Given the description of an element on the screen output the (x, y) to click on. 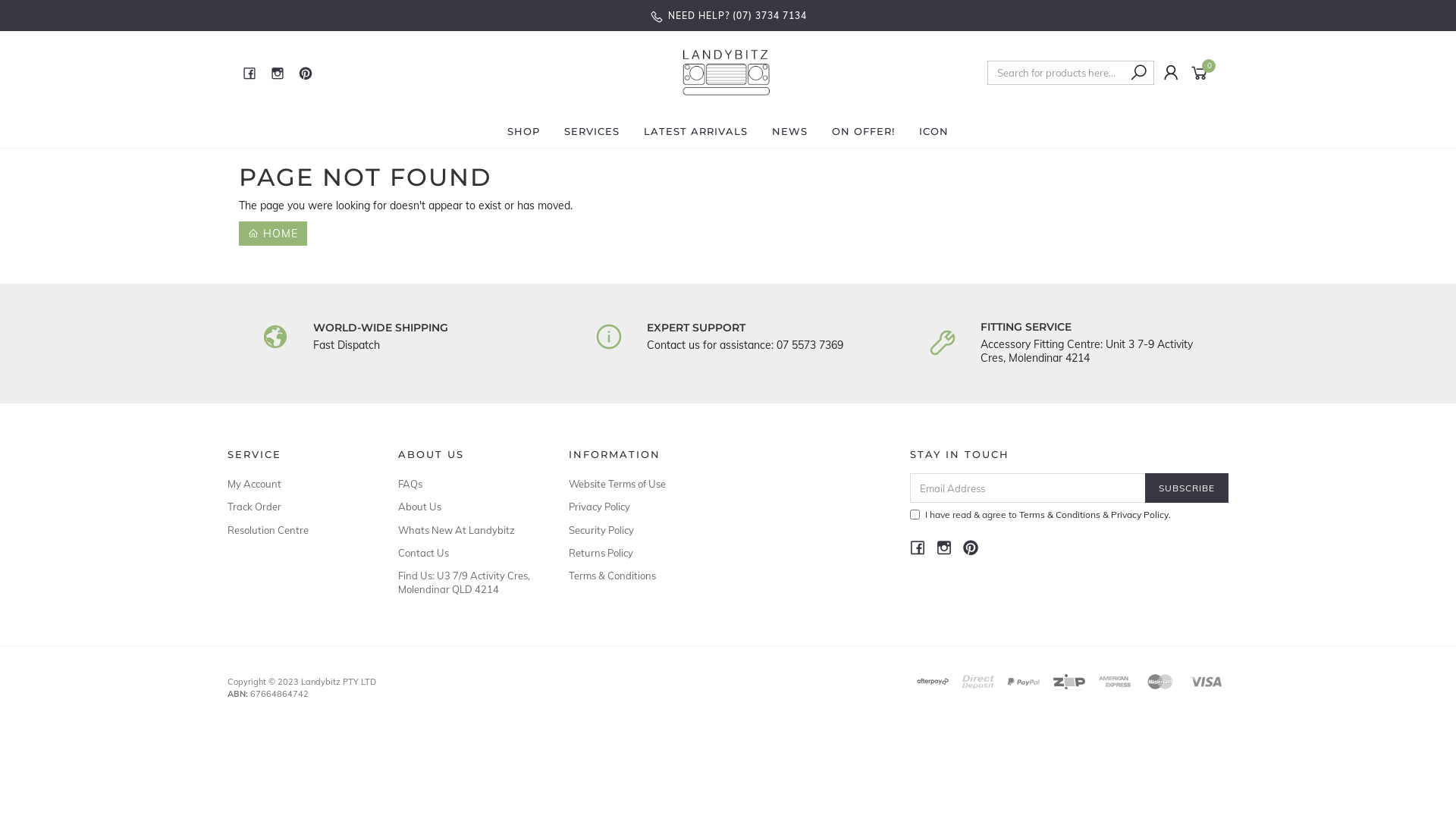
Search Element type: text (1139, 72)
SHOP Element type: text (523, 130)
Terms & Conditions Element type: text (636, 575)
WORLD-WIDE SHIPPING
Fast Dispatch Element type: text (426, 336)
About Us Element type: text (466, 506)
Find Us: U3 7/9 Activity Cres, Molendinar QLD 4214 Element type: text (466, 581)
Website Terms of Use Element type: text (636, 483)
My Account Element type: text (295, 483)
FAQs Element type: text (466, 483)
0 Element type: text (1202, 71)
Landybitz PTY LTD Element type: hover (726, 71)
Contact Us Element type: text (466, 552)
Subscribe Element type: text (1186, 487)
Privacy Policy Element type: text (1139, 514)
NEWS Element type: text (789, 130)
SERVICES Element type: text (591, 130)
Privacy Policy Element type: text (636, 506)
Resolution Centre Element type: text (295, 529)
NEED HELP? (07) 3734 7134 Element type: text (727, 15)
ON OFFER! Element type: text (863, 130)
Track Order Element type: text (295, 506)
Returns Policy Element type: text (636, 552)
LATEST ARRIVALS Element type: text (695, 130)
Terms & Conditions Element type: text (1059, 514)
Security Policy Element type: text (636, 529)
EXPERT SUPPORT
Contact us for assistance: 07 5573 7369 Element type: text (759, 336)
Whats New At Landybitz Element type: text (466, 529)
ICON Element type: text (933, 130)
HOME Element type: text (272, 233)
